Given the description of an element on the screen output the (x, y) to click on. 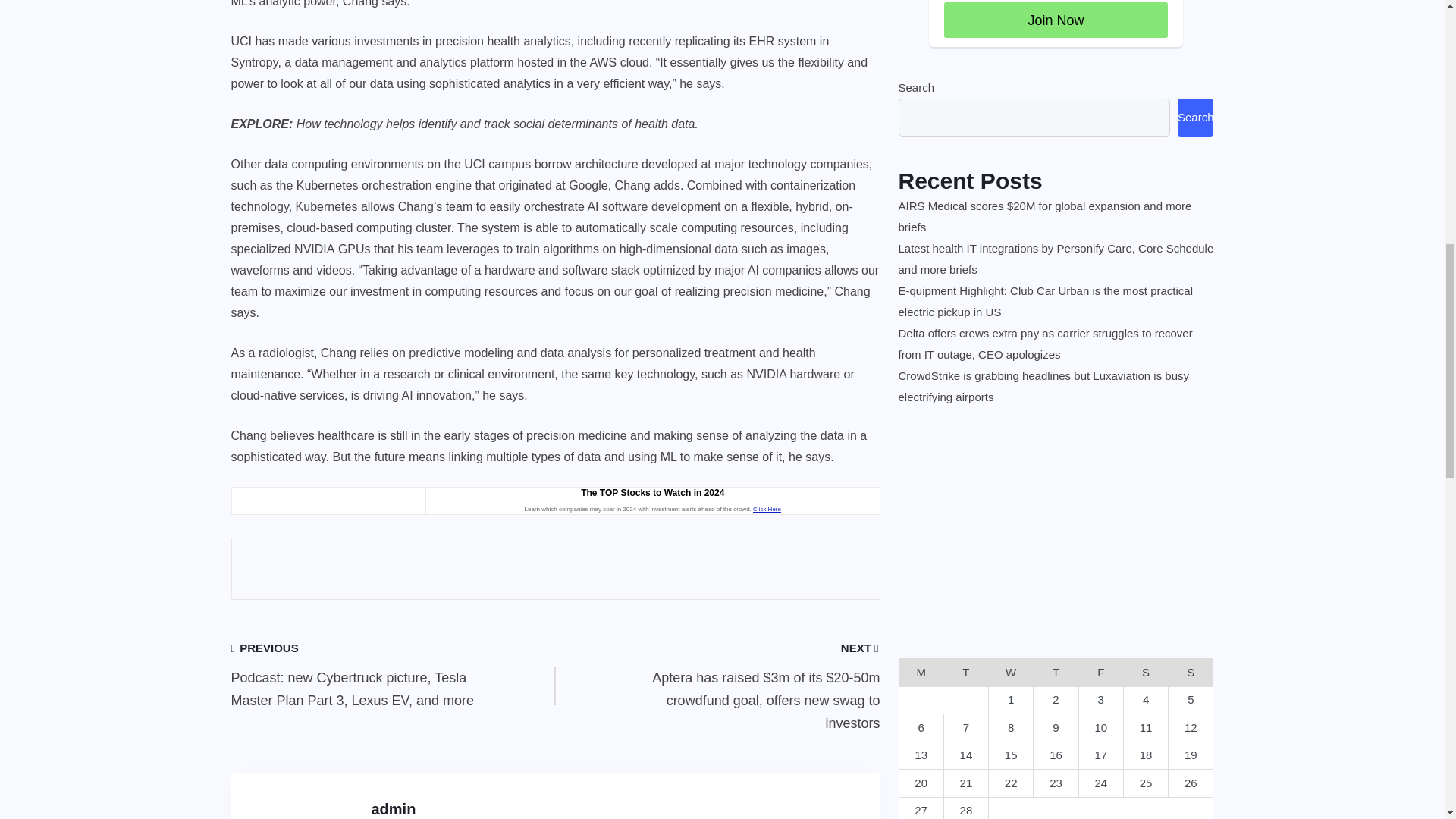
Thursday (1055, 673)
Monday (920, 673)
Saturday (1144, 673)
Friday (1100, 673)
Join Now (1055, 19)
Tuesday (965, 673)
Sunday (1190, 673)
Wednesday (1010, 673)
